Given the description of an element on the screen output the (x, y) to click on. 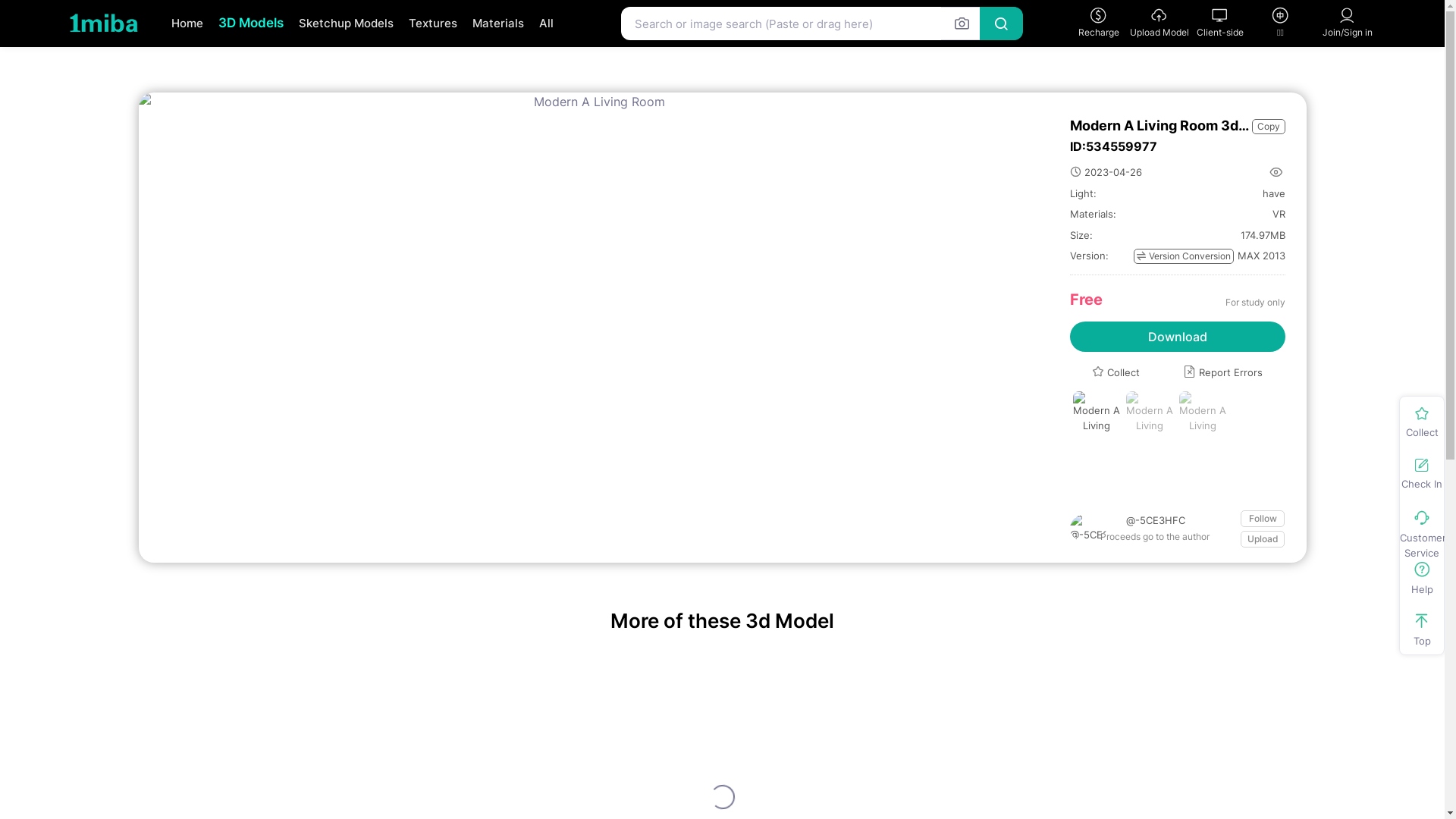
Recharge Element type: text (1097, 22)
3D Models Element type: text (250, 22)
Download Element type: text (1176, 336)
Upload Model Element type: text (1158, 22)
Materials Element type: text (497, 23)
Home Element type: text (186, 23)
All Element type: text (545, 23)
Client-side Element type: text (1219, 22)
Join/Sign in Element type: text (1346, 22)
Textures Element type: text (432, 23)
Sketchup Models Element type: text (346, 23)
